Given the description of an element on the screen output the (x, y) to click on. 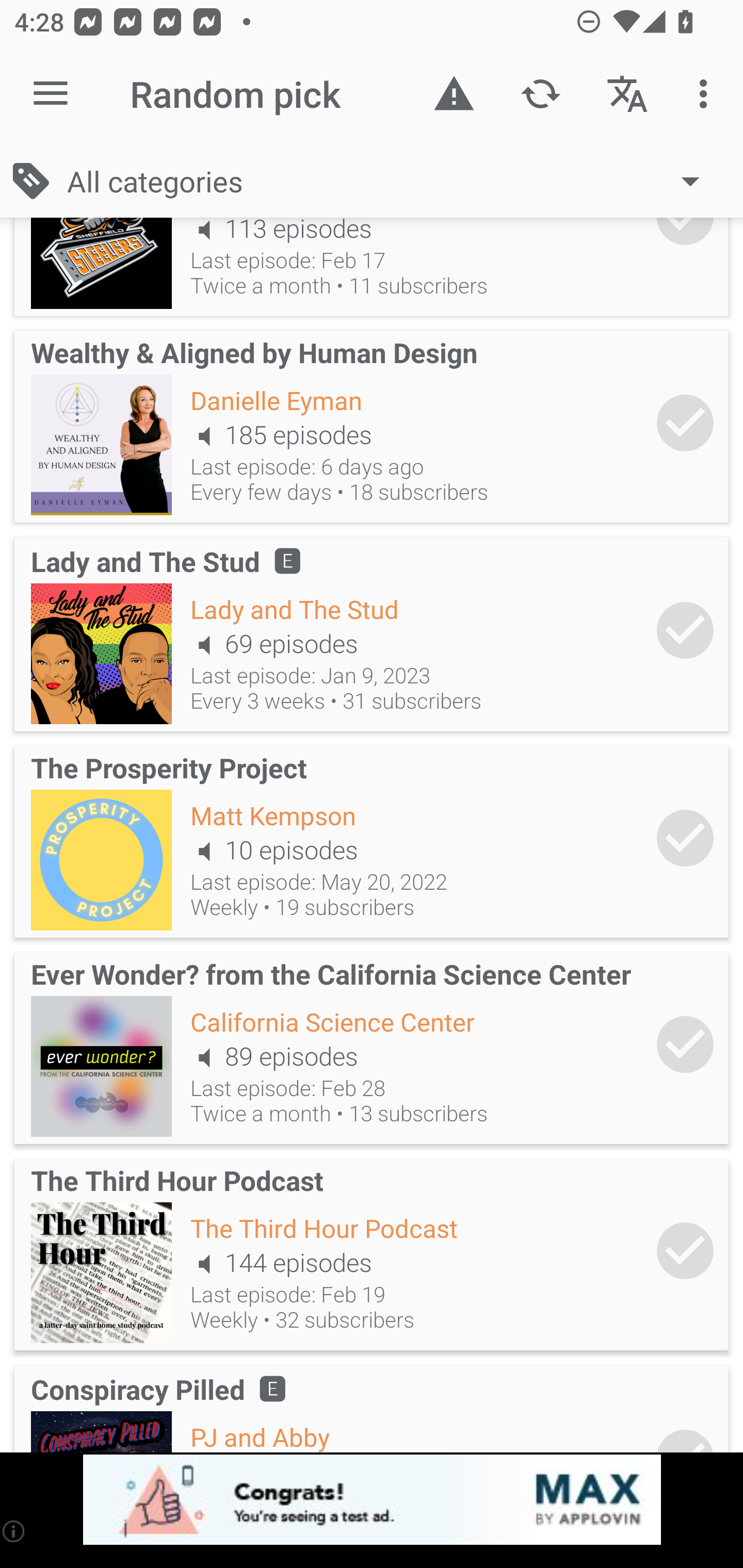
Open navigation sidebar (50, 93)
Report inappropriate content (453, 93)
Update top podcasts list (540, 93)
Podcast languages (626, 93)
More options (706, 93)
All categories (393, 180)
Add (684, 422)
Add (684, 630)
Add (684, 837)
Add (684, 1044)
Add (684, 1250)
Conspiracy Pilled  🅴 PJ and Abby Add (371, 1404)
app-monetization (371, 1500)
(i) (14, 1531)
